Given the description of an element on the screen output the (x, y) to click on. 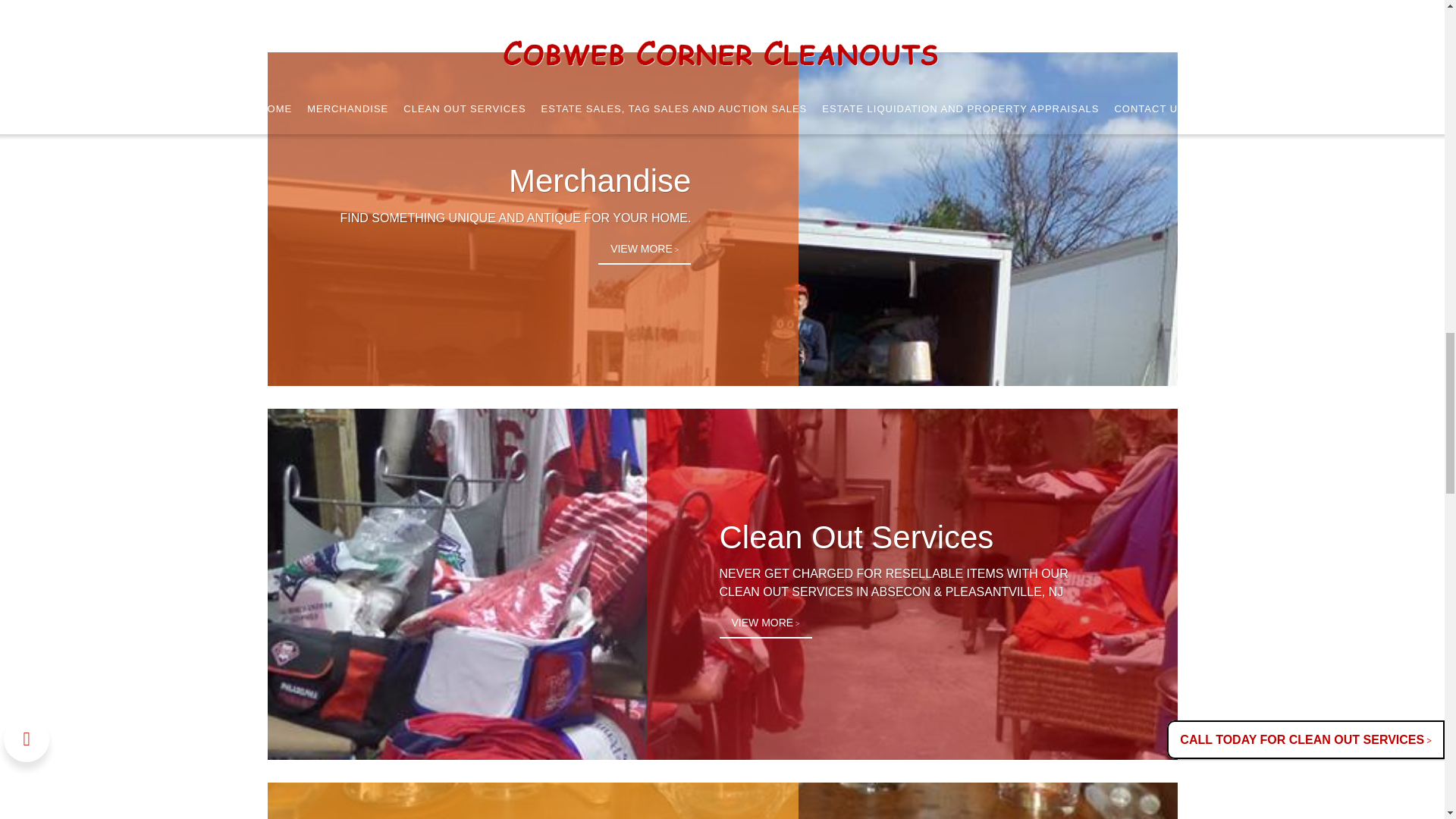
VIEW MORE (764, 623)
VIEW MORE (644, 249)
Merchandise (599, 180)
Clean Out Services (855, 537)
